Given the description of an element on the screen output the (x, y) to click on. 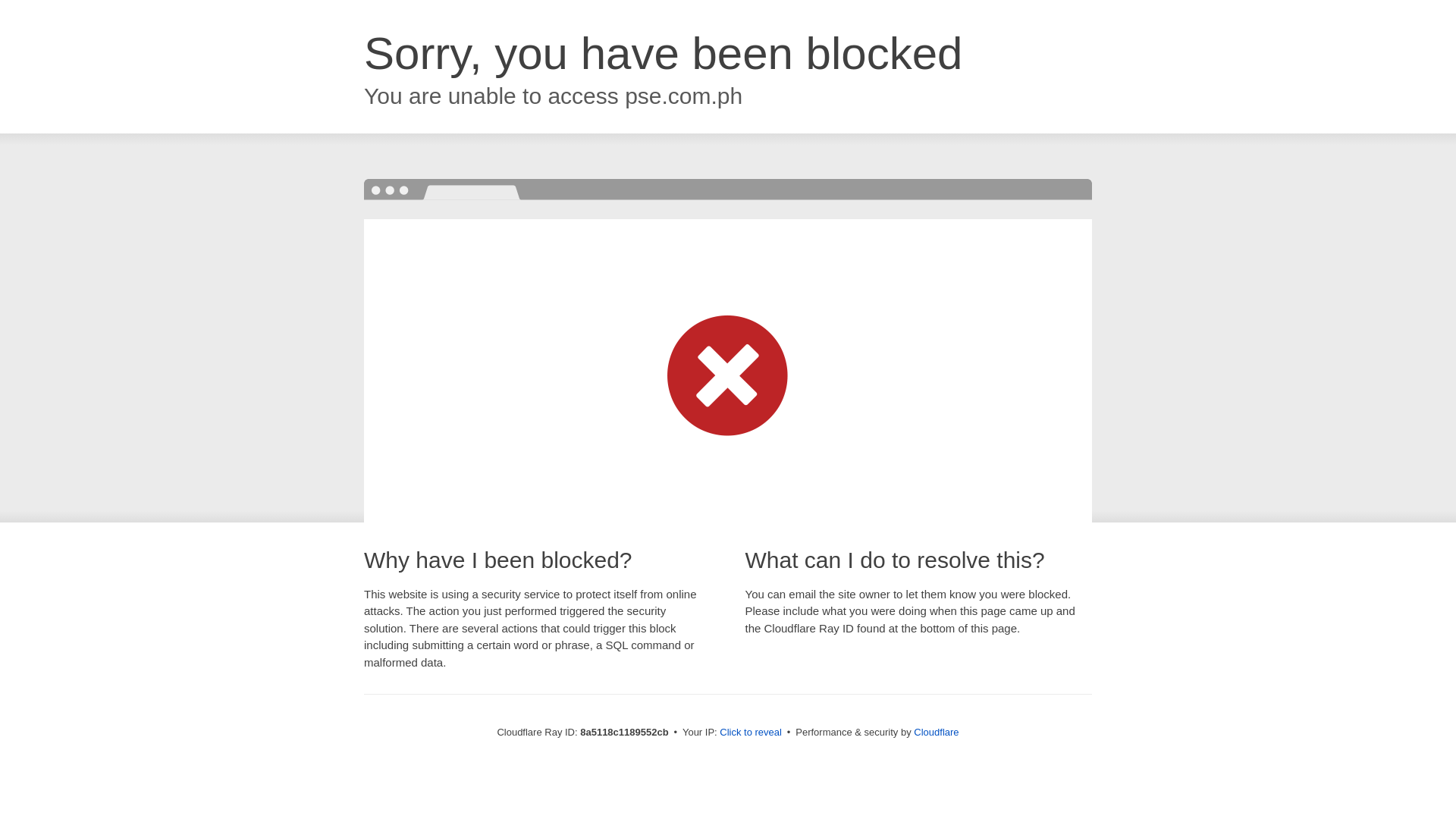
Cloudflare (936, 731)
Click to reveal (750, 732)
